Given the description of an element on the screen output the (x, y) to click on. 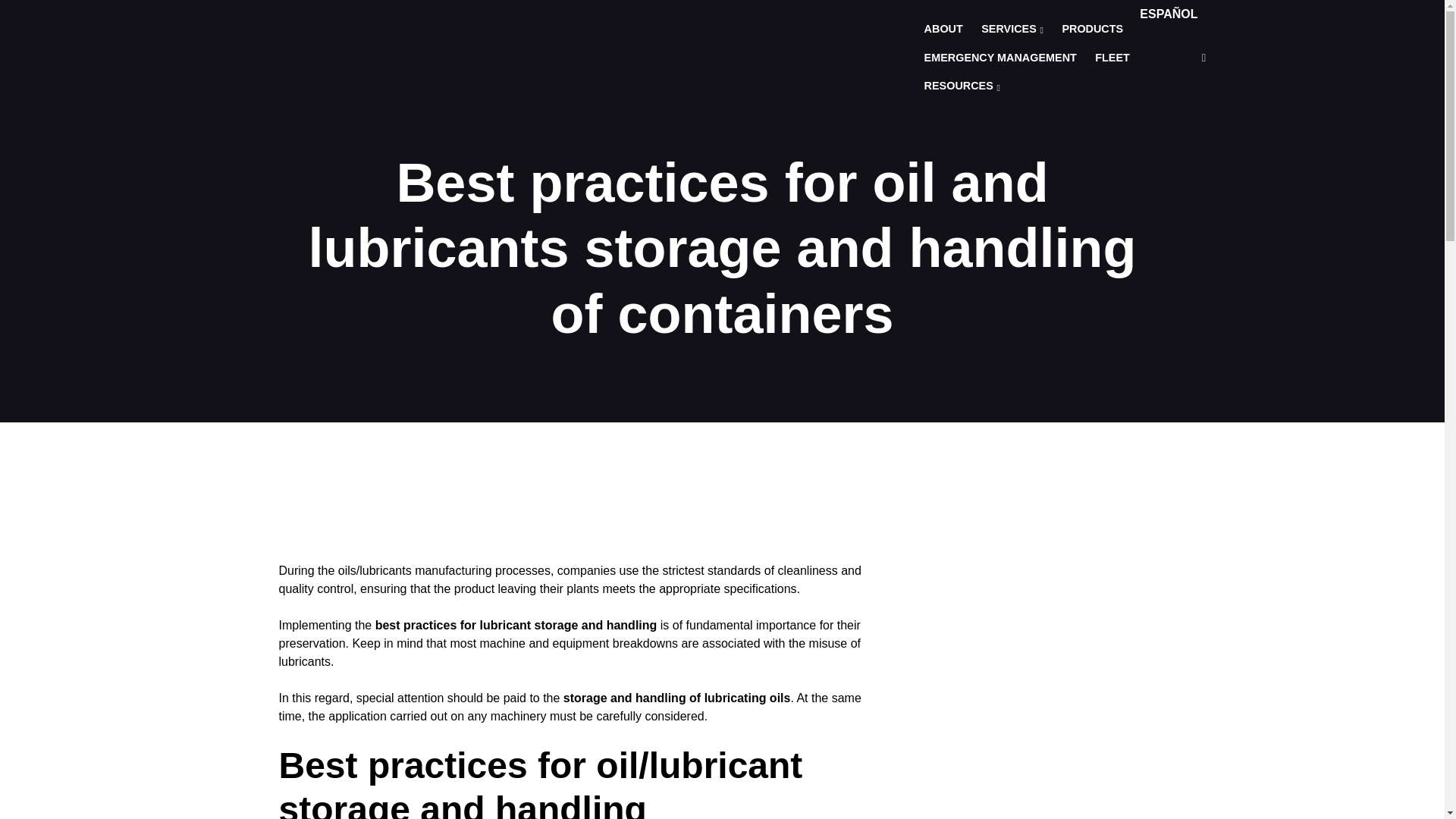
SERVICES (1012, 29)
RESOURCES (962, 86)
ABOUT (944, 29)
EMERGENCY MANAGEMENT (1000, 58)
PRODUCTS (1092, 29)
FLEET (1112, 58)
